Given the description of an element on the screen output the (x, y) to click on. 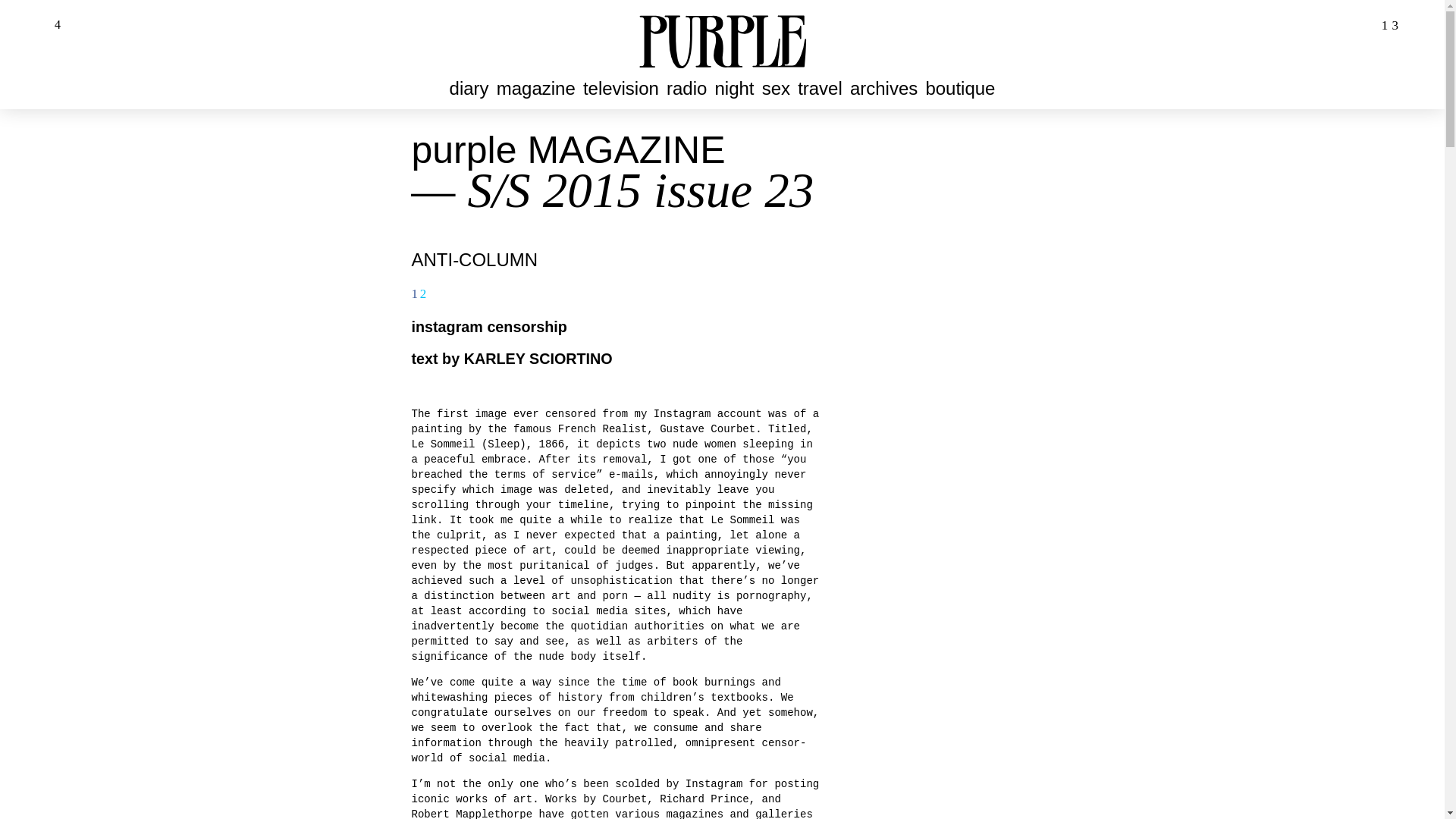
PURPLE (721, 39)
travel (819, 87)
diary (468, 87)
sex (776, 87)
boutique (960, 87)
television (619, 87)
radio (686, 87)
magazine (535, 87)
archives (883, 87)
night (734, 87)
